Given the description of an element on the screen output the (x, y) to click on. 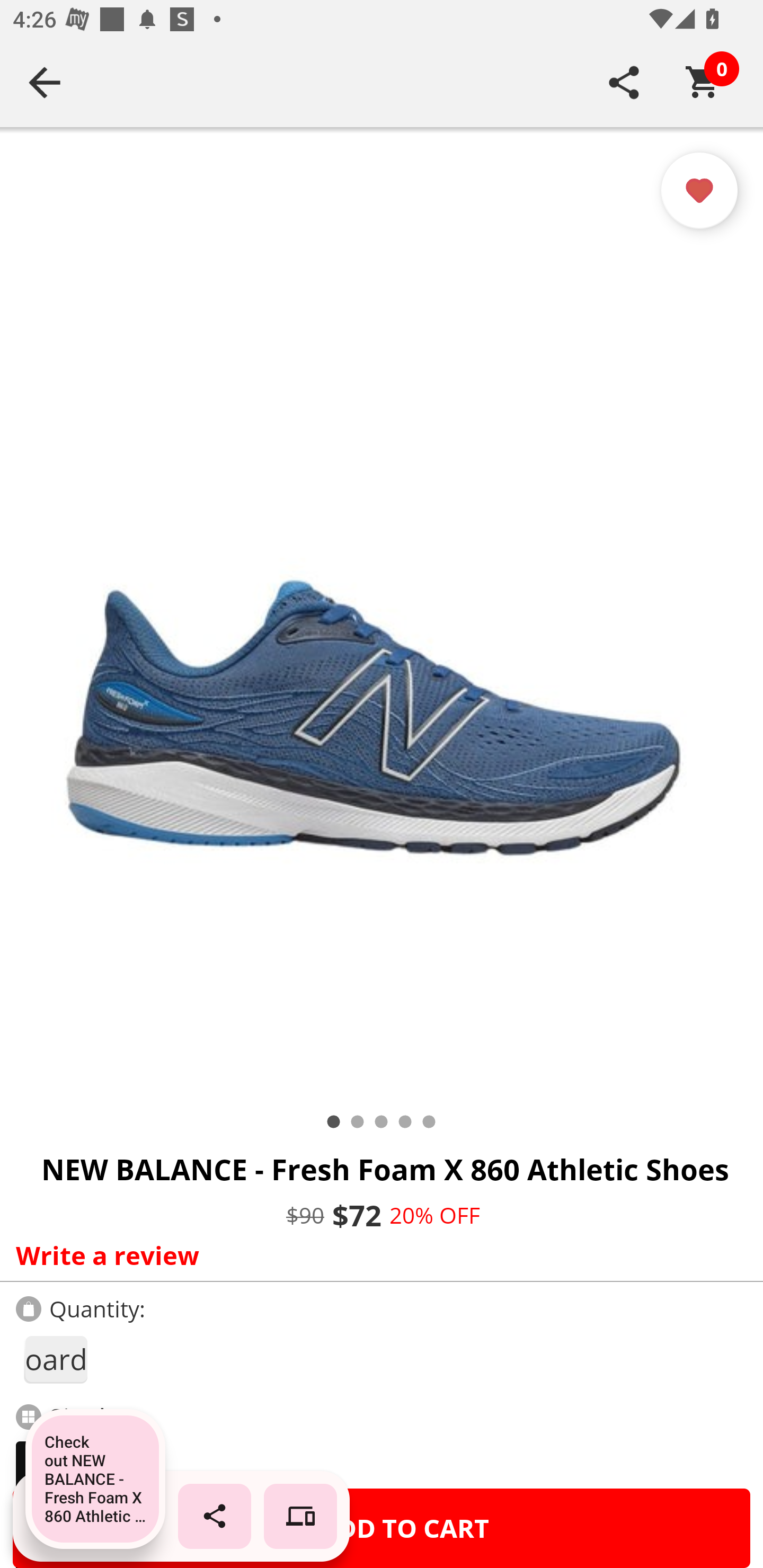
Navigate up (44, 82)
SHARE (623, 82)
Cart (703, 81)
Write a review (377, 1255)
1keyboard (55, 1358)
